Given the description of an element on the screen output the (x, y) to click on. 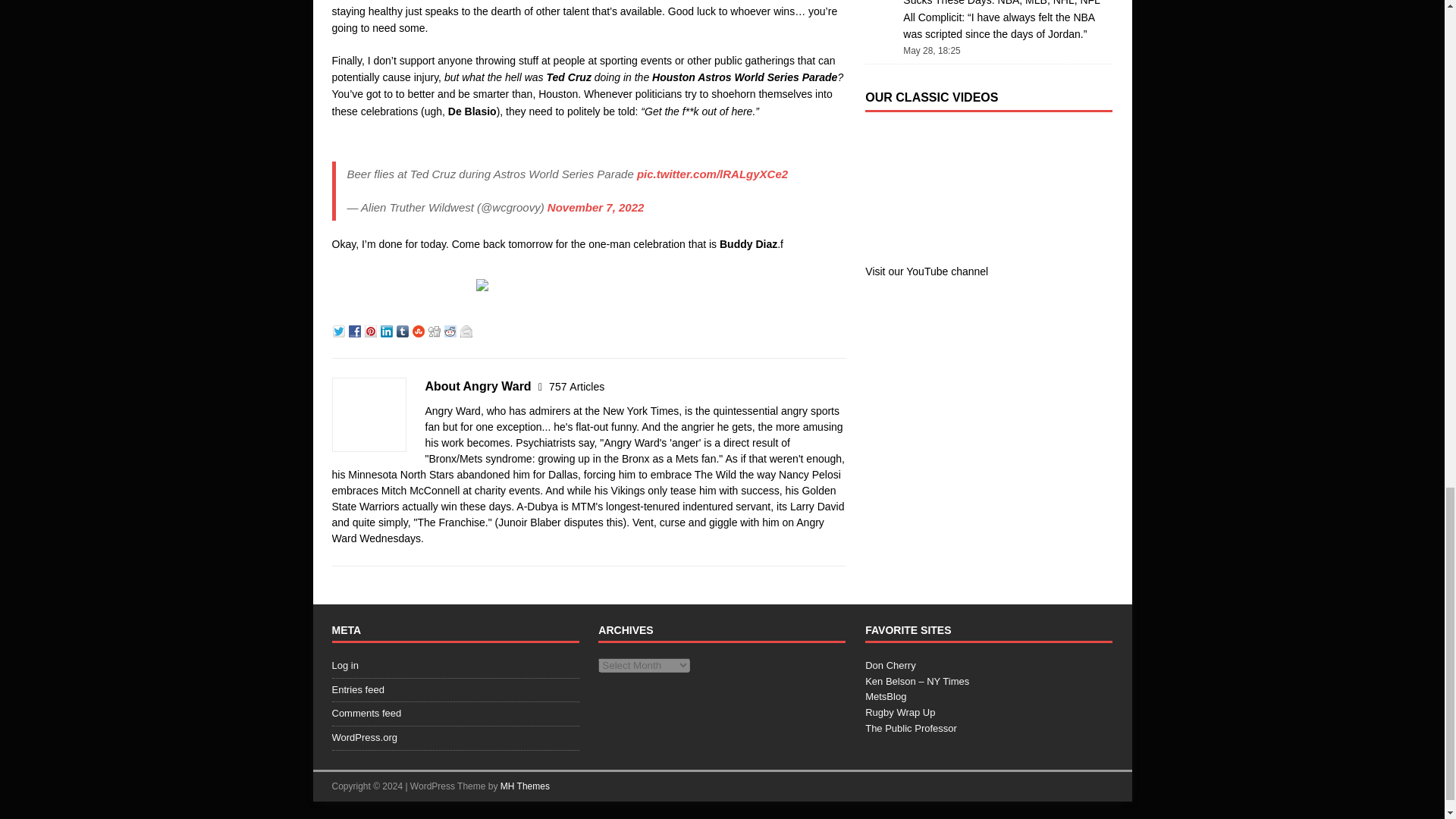
StumbleUpon (420, 329)
Pinterest (372, 329)
Linkedin (388, 329)
757 Articles (576, 386)
Print (484, 283)
Digg (436, 329)
More articles written by Angry Ward' (576, 386)
Twitter (339, 329)
November 7, 2022 (596, 206)
Tumblr (404, 329)
Email (468, 329)
Reddit (452, 329)
Facebook (357, 329)
